Given the description of an element on the screen output the (x, y) to click on. 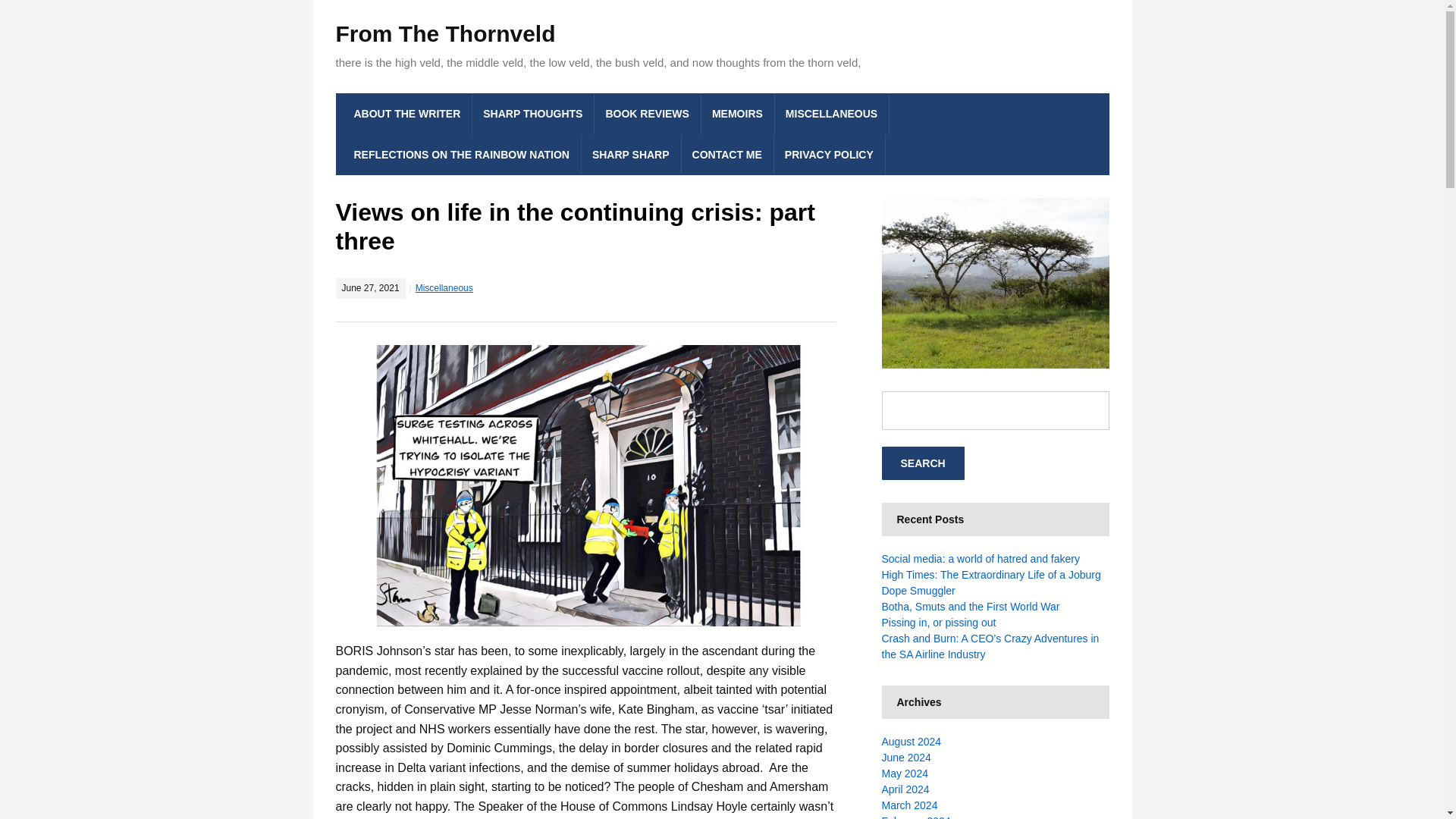
March 2024 (908, 805)
February 2024 (915, 816)
August 2024 (910, 741)
MEMOIRS (737, 113)
SHARP SHARP (630, 154)
Search (921, 462)
Botha, Smuts and the First World War (969, 606)
Social media: a world of hatred and fakery (979, 558)
From The Thornveld (444, 33)
Miscellaneous (443, 287)
